Given the description of an element on the screen output the (x, y) to click on. 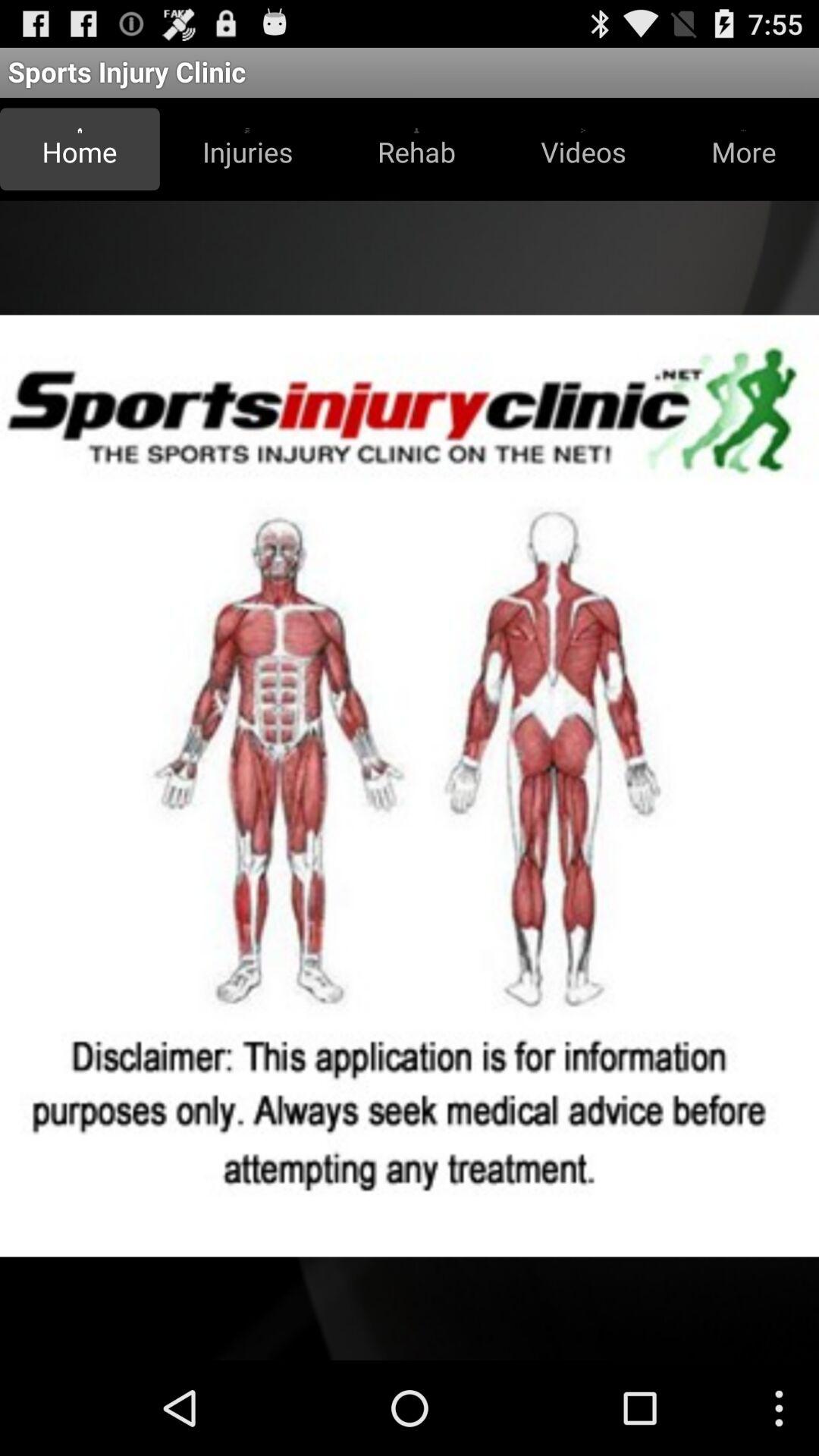
turn off icon below sports injury clinic item (79, 149)
